Given the description of an element on the screen output the (x, y) to click on. 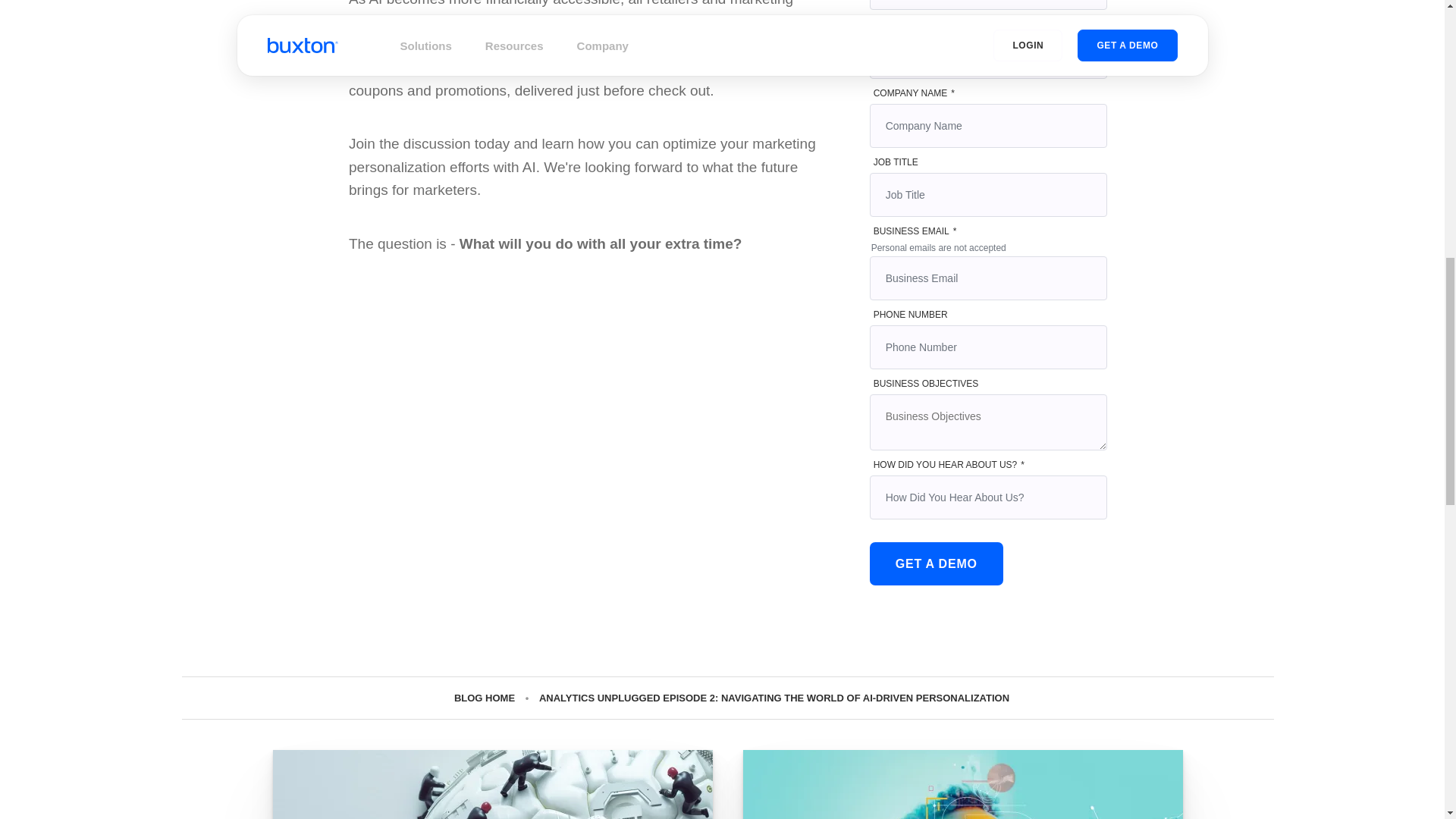
Get a Demo (936, 563)
YouTube video player (561, 404)
